Given the description of an element on the screen output the (x, y) to click on. 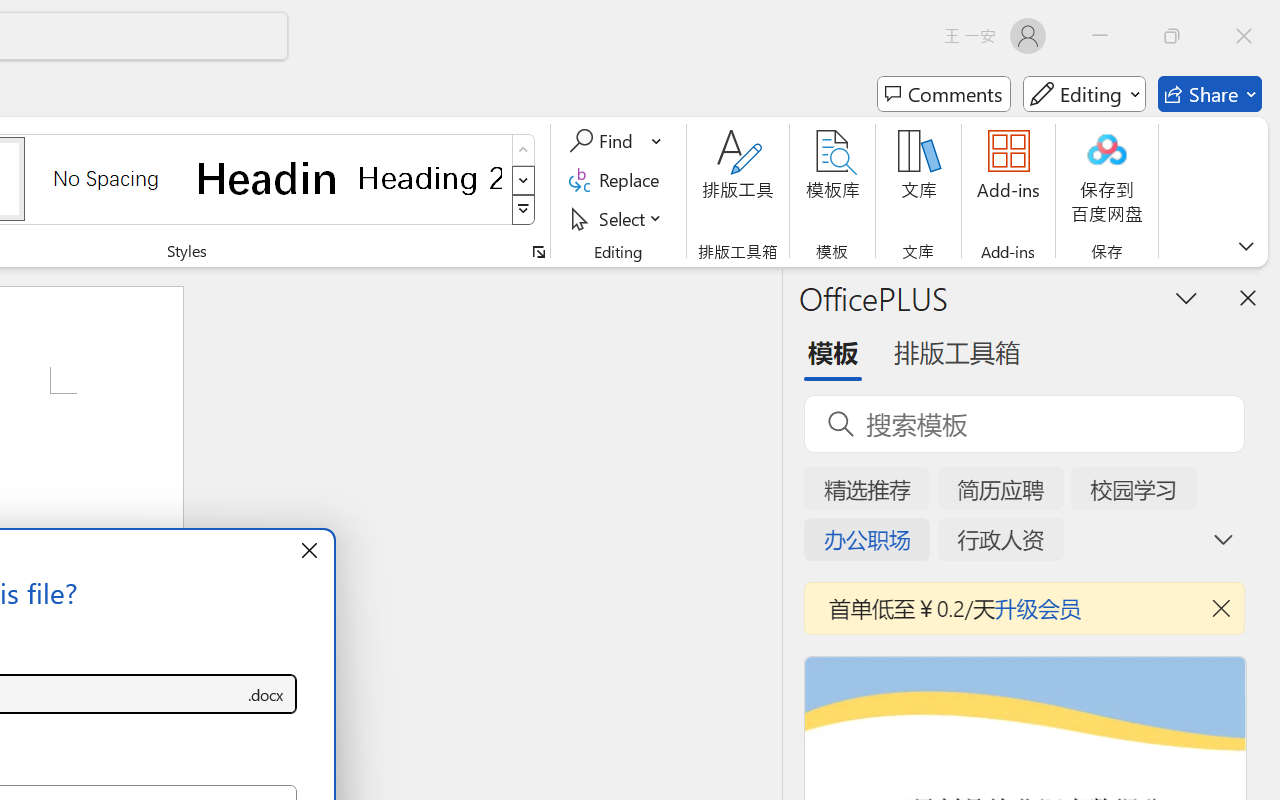
Find (604, 141)
Comments (943, 94)
Select (618, 218)
Ribbon Display Options (1246, 245)
Heading 2 (429, 178)
Class: NetUIImage (523, 210)
